Given the description of an element on the screen output the (x, y) to click on. 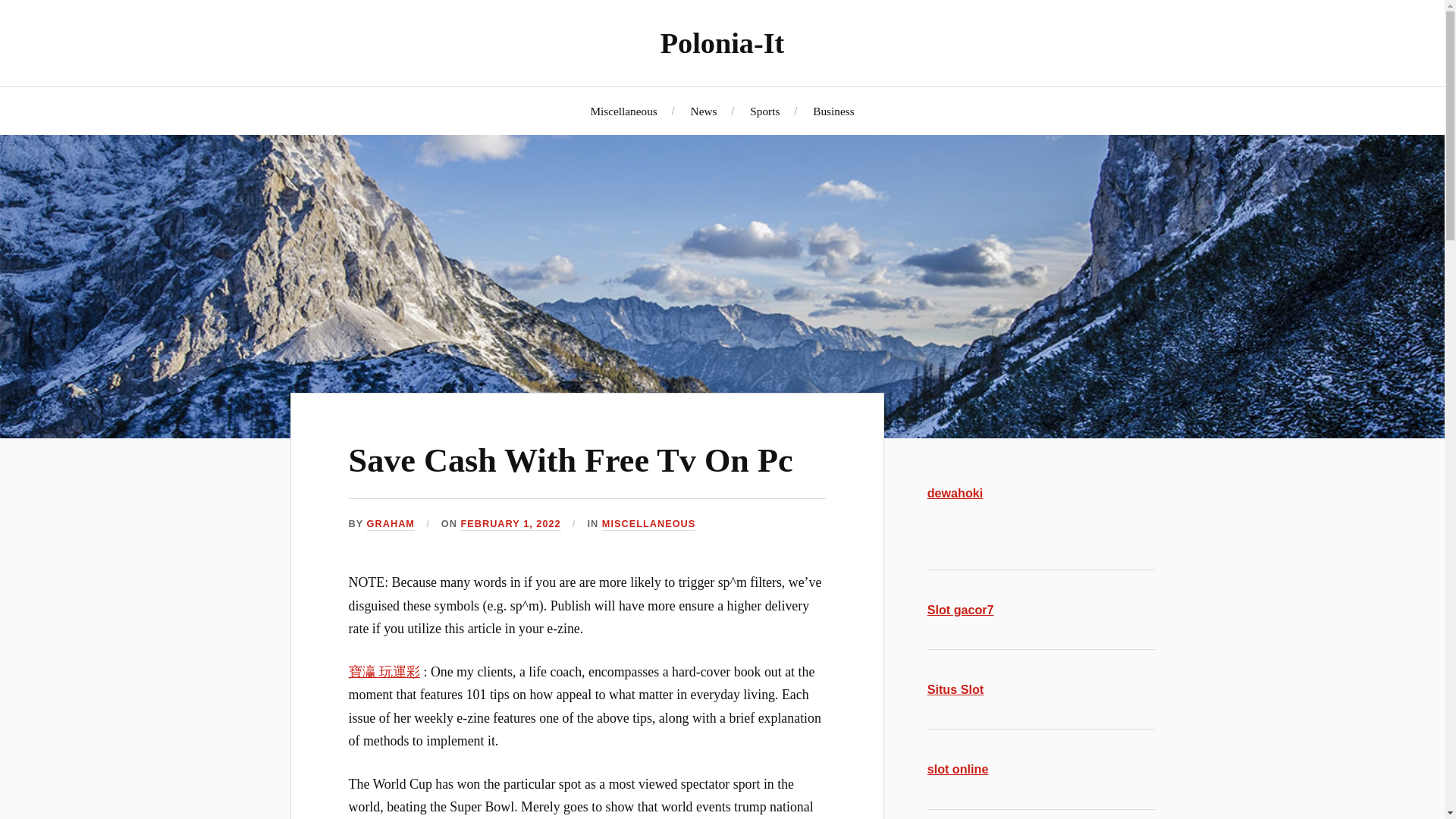
slot online (957, 768)
FEBRUARY 1, 2022 (510, 523)
Posts by Graham (390, 523)
Slot gacor7 (960, 609)
MISCELLANEOUS (648, 523)
Polonia-It (722, 42)
dewahoki (955, 492)
Save Cash With Free Tv On Pc (571, 460)
Miscellaneous (622, 110)
Situs Slot (955, 689)
GRAHAM (390, 523)
